Given the description of an element on the screen output the (x, y) to click on. 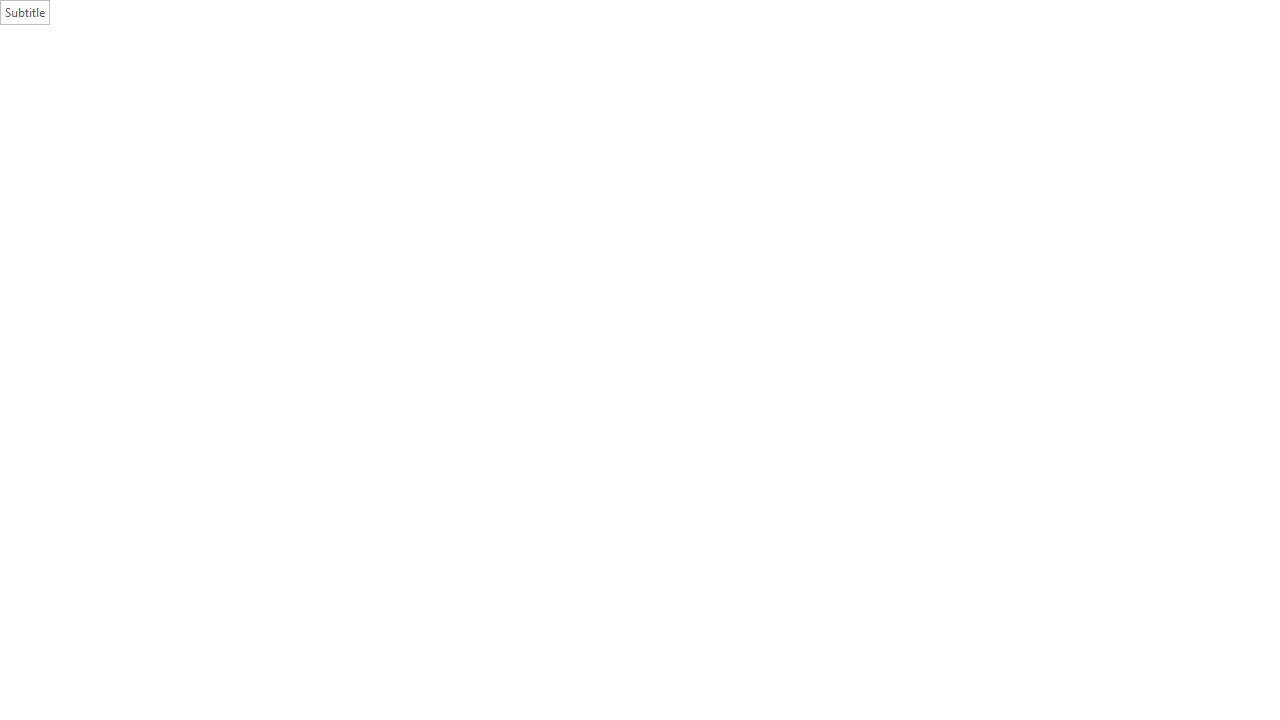
Undo Apply Quick Style (170, 15)
Center (552, 119)
Results (161, 264)
Text Highlight Color Yellow (388, 119)
Font Color (434, 119)
Heading 1 (991, 100)
Title (1135, 100)
Headings (45, 264)
Align Left (527, 119)
Search document (118, 226)
Shading (706, 119)
